Given the description of an element on the screen output the (x, y) to click on. 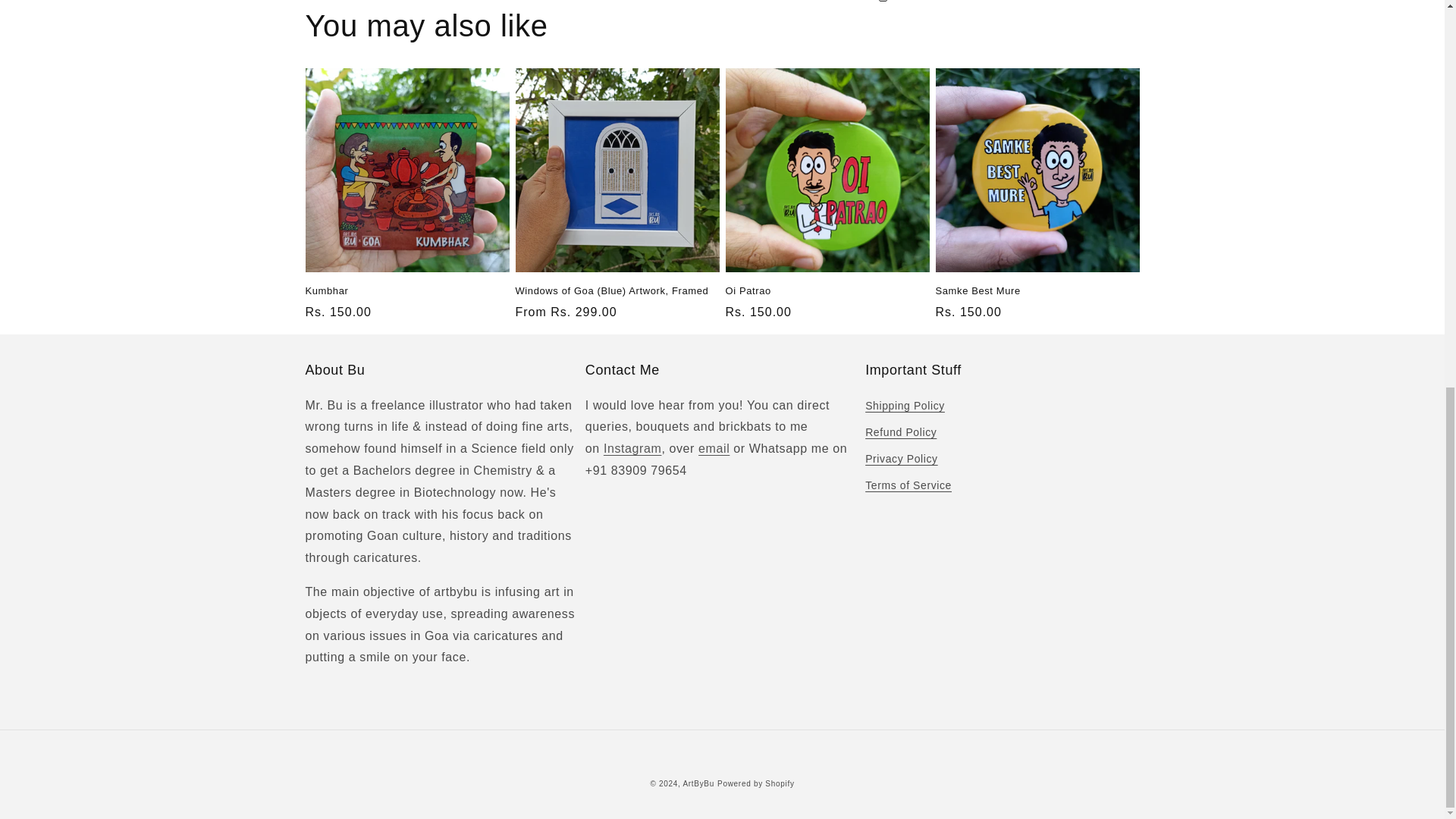
ArtByBu on Insatgram (633, 448)
Bu's Email (713, 448)
